Given the description of an element on the screen output the (x, y) to click on. 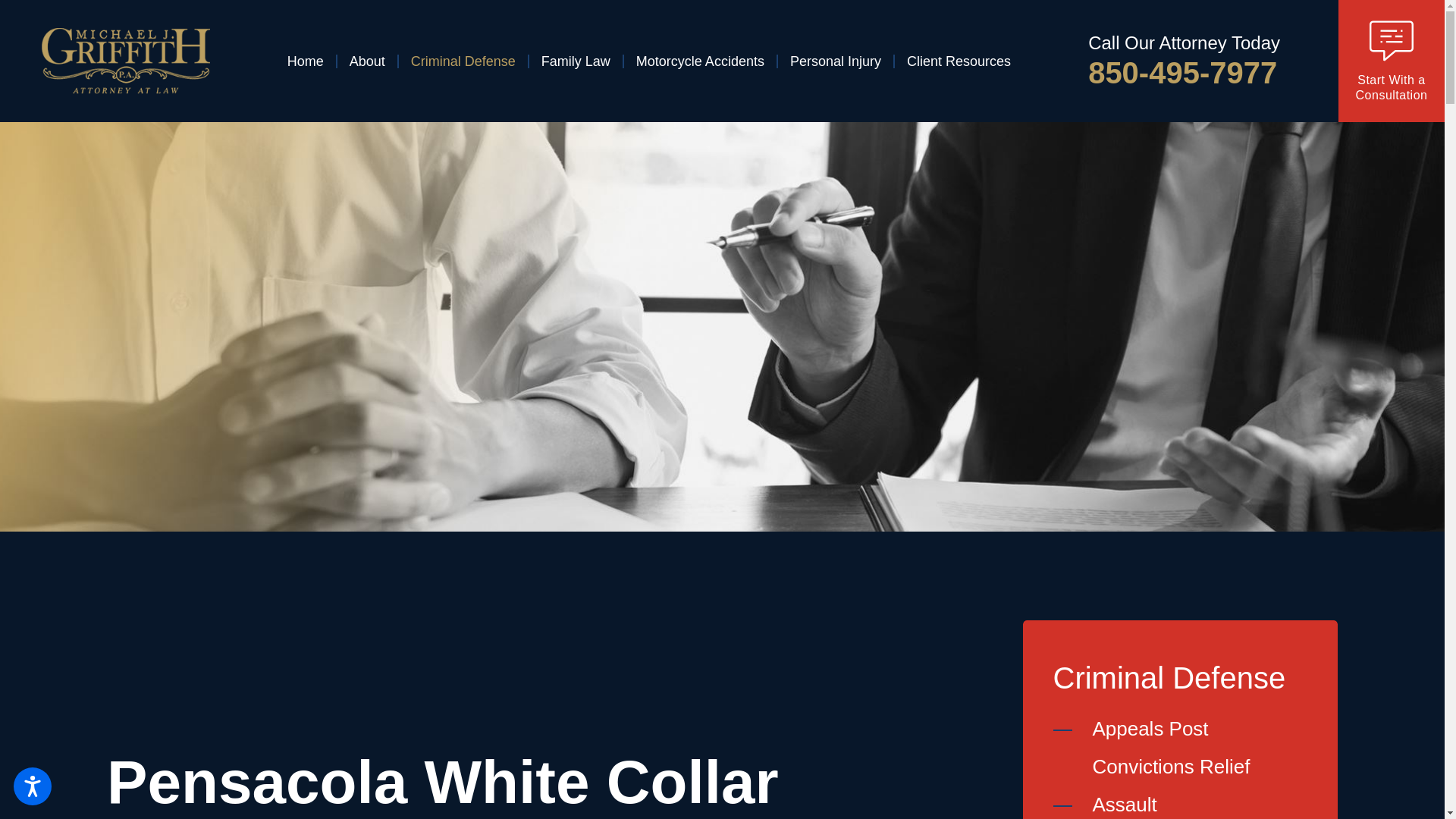
Criminal Defense (462, 60)
Open the accessibility options menu (31, 786)
Home (311, 60)
Michael J. Griffith, P.A. (125, 60)
About (366, 60)
